Given the description of an element on the screen output the (x, y) to click on. 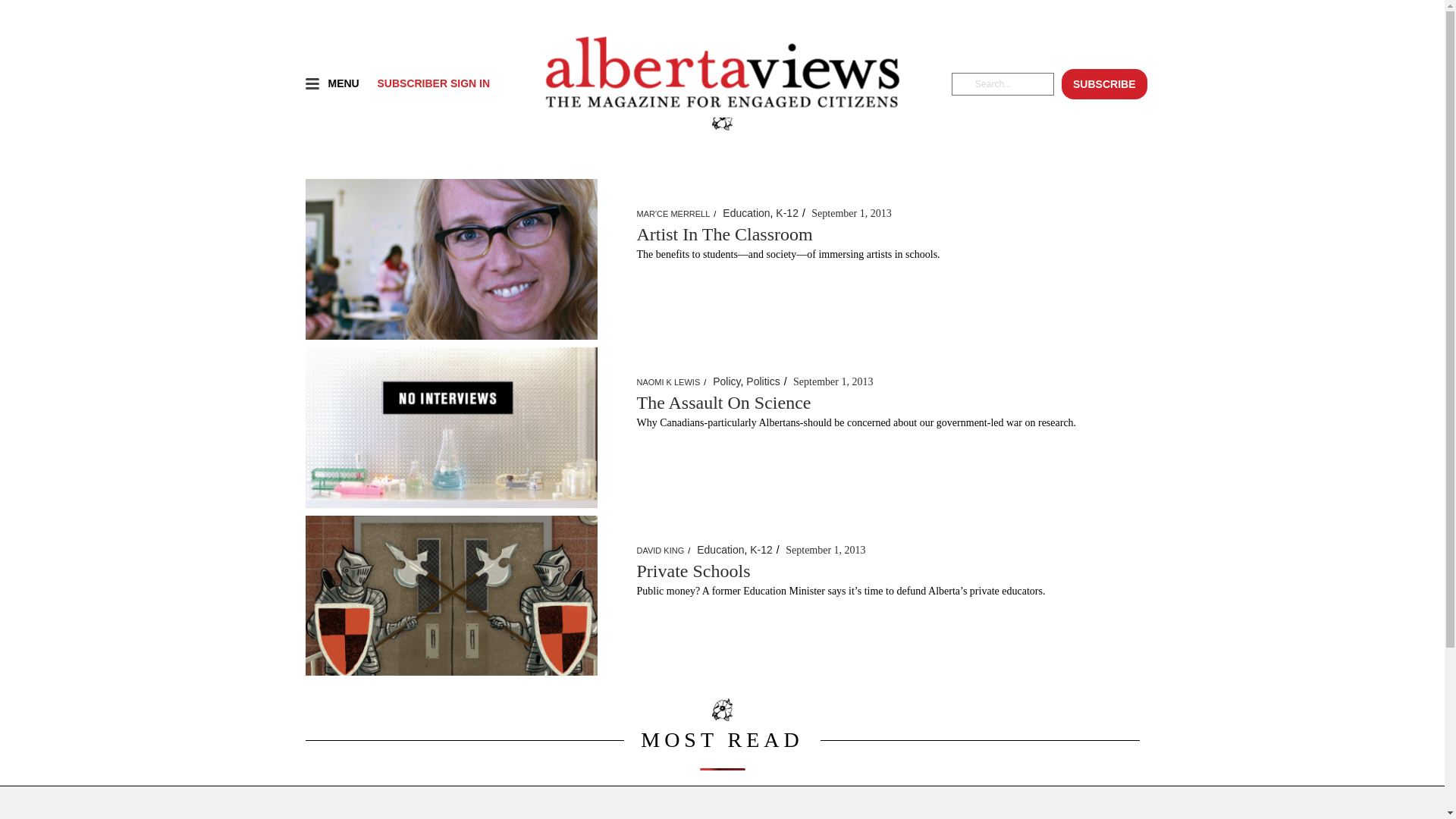
K-12 Element type: text (760, 548)
Education Element type: text (719, 548)
The Assault on Science Element type: hover (450, 426)
September 1, 2013 Element type: text (851, 213)
The Assault on Science Element type: hover (450, 427)
SUBSCRIBE Element type: text (1103, 71)
The Assault On Science Element type: text (724, 402)
Private Schools Element type: text (693, 570)
Politics Element type: text (762, 381)
Policy Element type: text (726, 381)
MAR'CE MERRELL Element type: text (673, 213)
SUBSCRIBER SIGN IN Element type: text (433, 83)
DAVID KING Element type: text (660, 550)
Artist In The Classroom Element type: text (724, 234)
Private Schools Element type: hover (450, 594)
Private Schools Element type: hover (450, 595)
K-12 Element type: text (786, 213)
September 1, 2013 Element type: text (825, 549)
NAOMI K LEWIS Element type: text (668, 381)
Artist in the Classroom Element type: hover (450, 258)
Artist in the Classroom Element type: hover (450, 257)
September 1, 2013 Element type: text (832, 381)
Education Element type: text (745, 213)
SUBSCRIBE Element type: text (1103, 84)
